Given the description of an element on the screen output the (x, y) to click on. 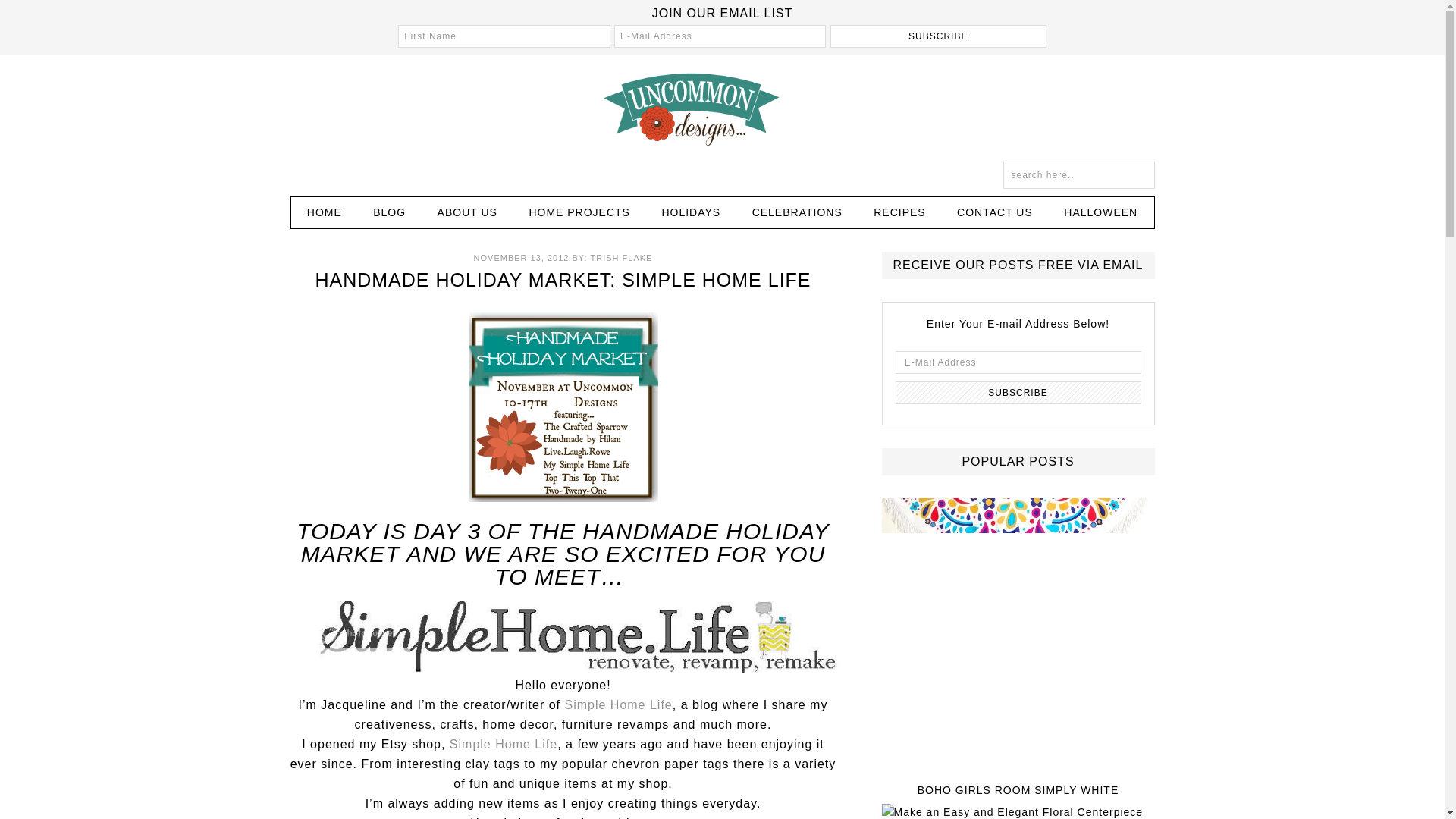
holiday market button (563, 407)
HOME (324, 212)
Home Projects (579, 212)
Subscribe (1017, 392)
ABOUT US (467, 212)
UNCOMMON DESIGNS (721, 108)
HOME PROJECTS (579, 212)
Celebrations (797, 212)
Contqact Us (994, 212)
